Given the description of an element on the screen output the (x, y) to click on. 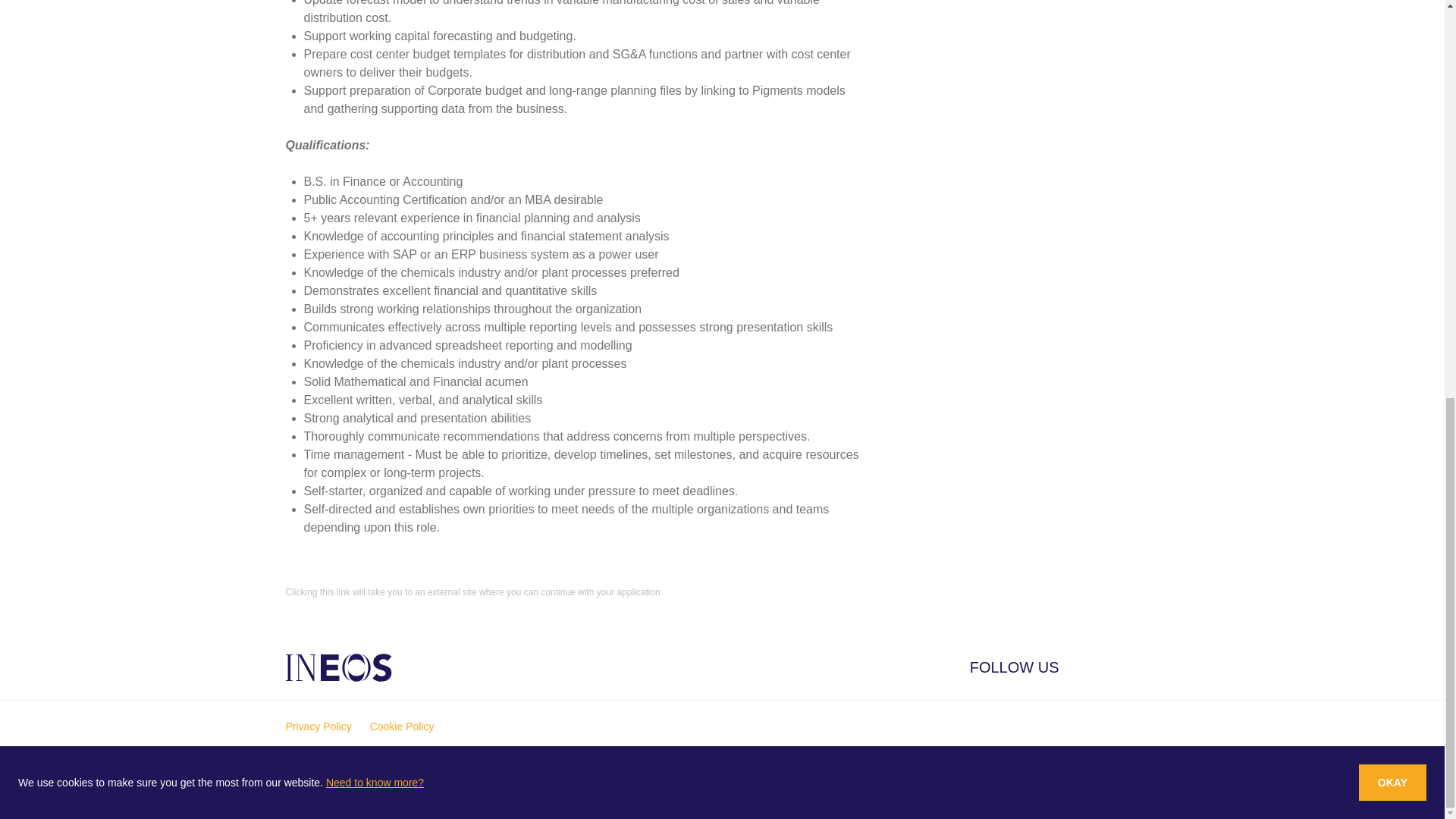
The MTM Agency (413, 792)
OKAY (1392, 13)
Privacy Policy (317, 726)
Cookie Policy (401, 726)
Need to know more? (374, 9)
